Given the description of an element on the screen output the (x, y) to click on. 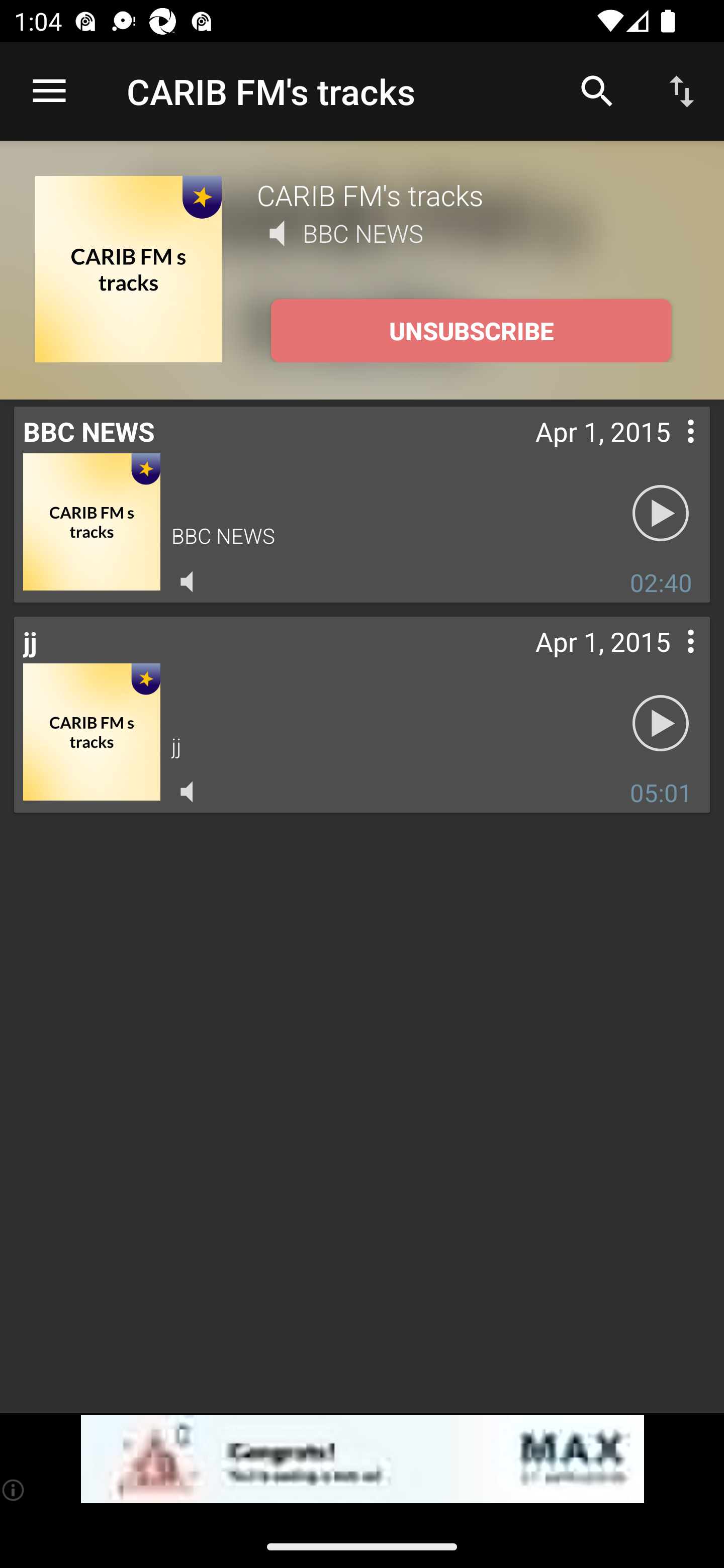
Open navigation sidebar (49, 91)
Search (597, 90)
Sort (681, 90)
UNSUBSCRIBE (470, 330)
Contextual menu (668, 451)
Play (660, 513)
Contextual menu (668, 661)
Play (660, 723)
app-monetization (362, 1459)
(i) (14, 1489)
